Given the description of an element on the screen output the (x, y) to click on. 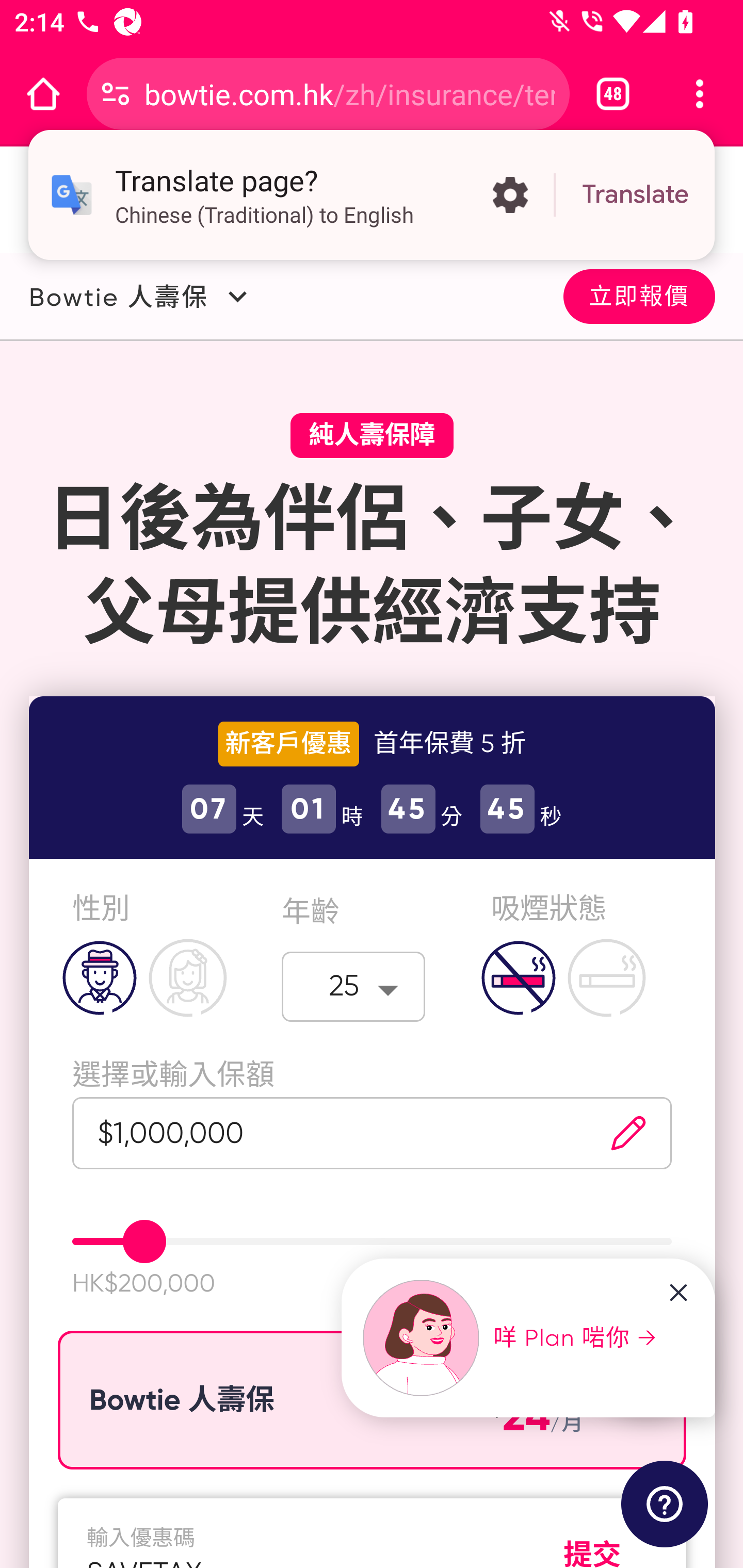
Open the home page (43, 93)
Connection is secure (115, 93)
Switch or close tabs (612, 93)
Customize and control Google Chrome (699, 93)
Translate (634, 195)
More options in the Translate page? (509, 195)
立即報價 (638, 295)
25 (353, 986)
$1,000,000 (321, 1132)
咩 Plan 啱你 → (510, 1338)
redeem coupon code (593, 1542)
